Given the description of an element on the screen output the (x, y) to click on. 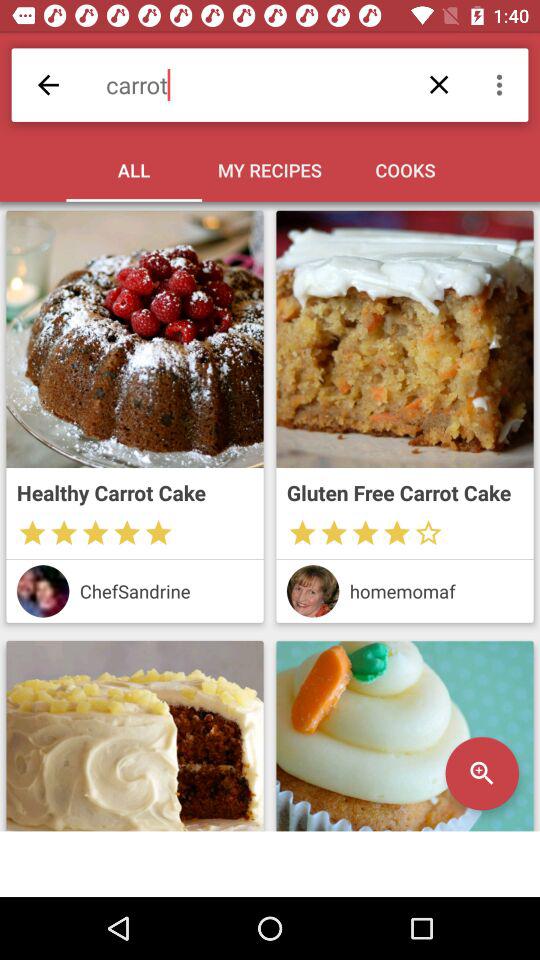
the result comes with image (404, 339)
